Given the description of an element on the screen output the (x, y) to click on. 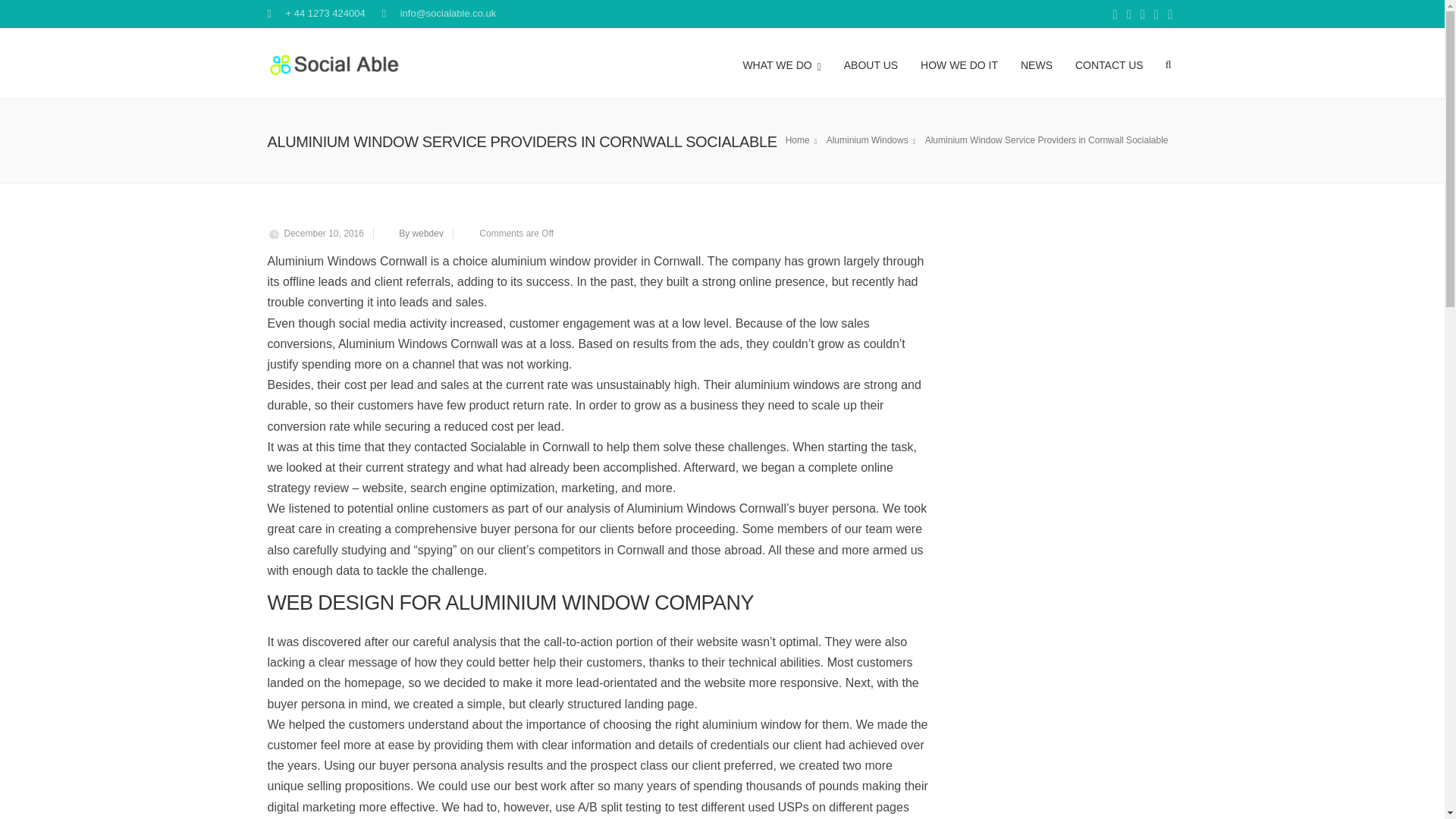
ABOUT US (870, 63)
LinkedIn (1156, 15)
HOW WE DO IT (958, 63)
Facebook (1114, 15)
CONTACT US (1109, 63)
WHAT WE DO (780, 63)
Aluminium Window Service Providers in Cornwall Socialable (1048, 140)
Twitter (1142, 15)
Instagram (1169, 15)
Aluminium Window Service Providers in Cornwall Socialable (873, 140)
Skype (1128, 15)
